Given the description of an element on the screen output the (x, y) to click on. 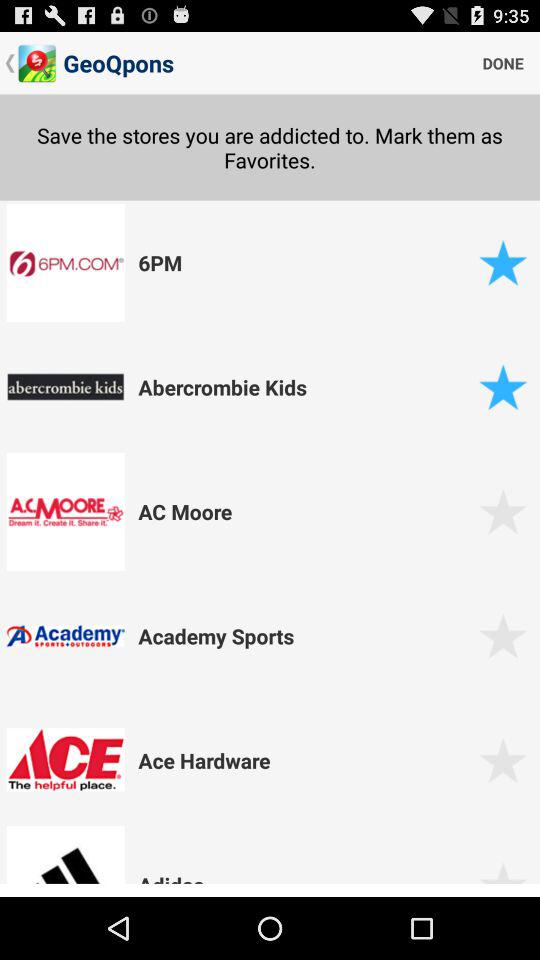
favourite selection (502, 511)
